Given the description of an element on the screen output the (x, y) to click on. 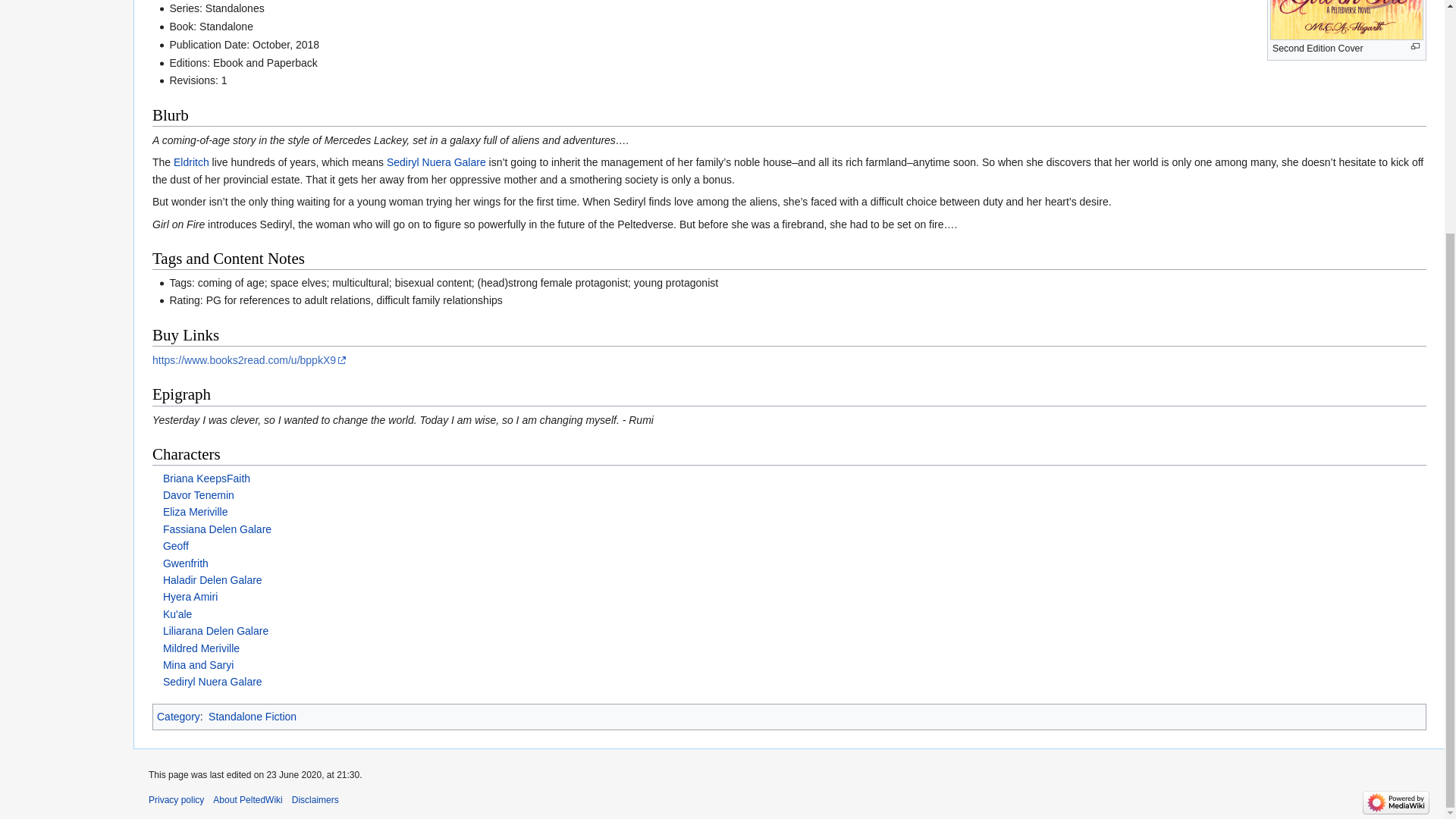
Gwenfrith (185, 563)
Liliarana Delen Galare (215, 630)
Mildred Meriville (201, 648)
Eliza Meriville (195, 511)
Davor Tenemin (198, 494)
Sediryl Nuera Galare (436, 162)
Category (178, 716)
Haladir Delen Galare (212, 580)
Mina and Saryi (197, 664)
Liliarana Delen Galare (215, 630)
